Given the description of an element on the screen output the (x, y) to click on. 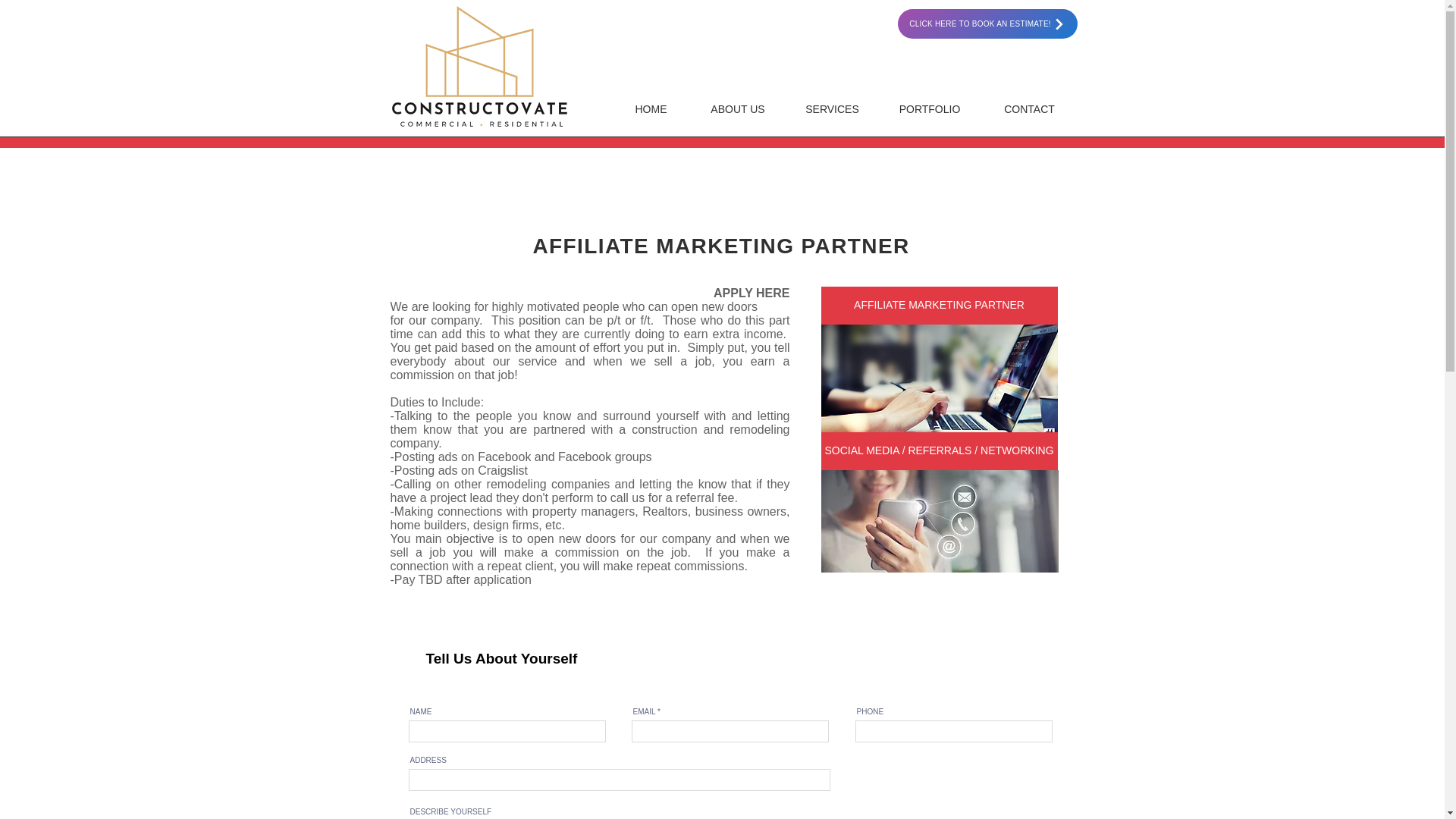
SERVICES (832, 109)
HOME (650, 109)
PORTFOLIO (929, 109)
AFFILIATE MARKETING PARTNER (939, 305)
CONTACT (1029, 109)
CLICK HERE TO BOOK AN ESTIMATE! (987, 23)
ABOUT US (737, 109)
